Given the description of an element on the screen output the (x, y) to click on. 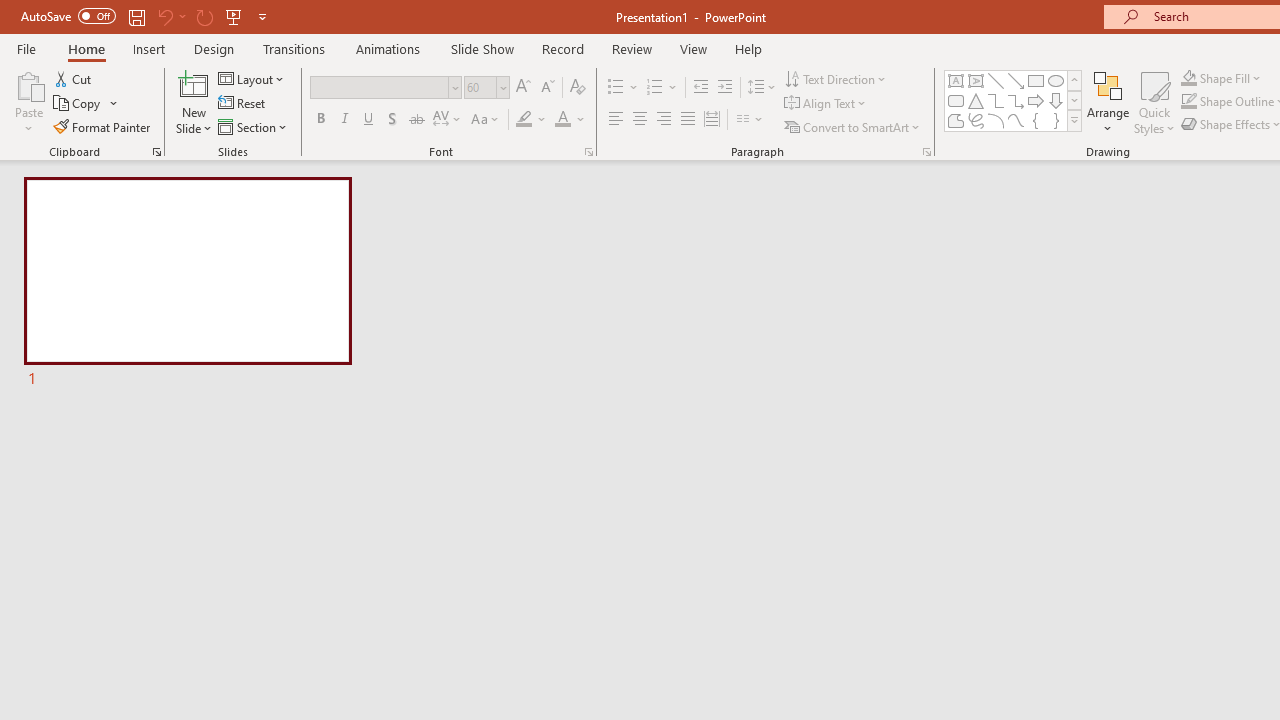
Customize Quick Access Toolbar (262, 15)
Rectangle (1035, 80)
View (693, 48)
Bullets (623, 87)
Center (639, 119)
Font... (588, 151)
Layout (252, 78)
From Beginning (234, 15)
AutoSave (68, 16)
Line Arrow (1016, 80)
Strikethrough (416, 119)
Font (385, 87)
Save (136, 15)
